Given the description of an element on the screen output the (x, y) to click on. 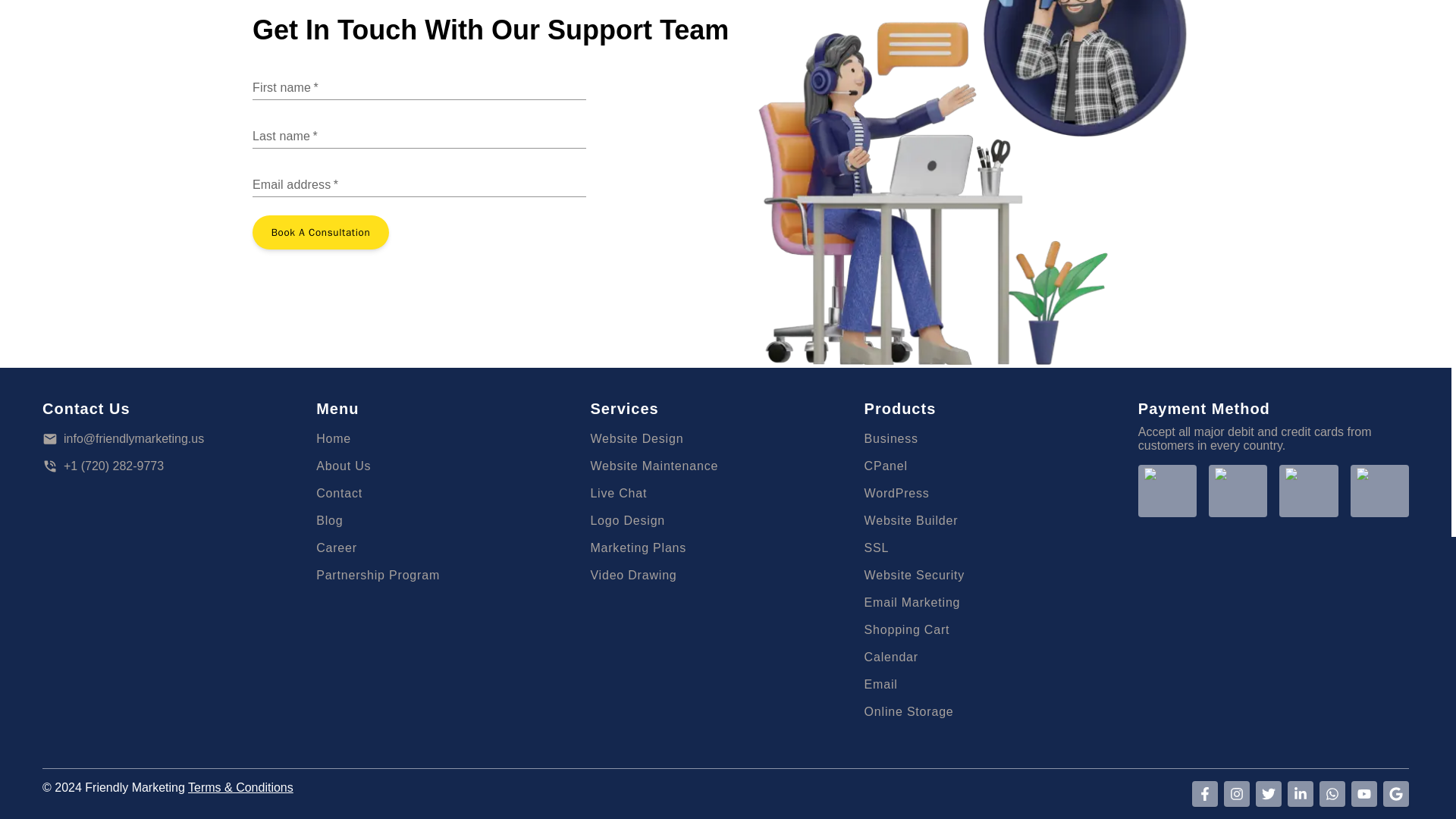
Business (999, 438)
Contact (450, 492)
CPanel (999, 465)
About Us (450, 465)
Home (450, 438)
Partnership Program (377, 574)
Logo Design (724, 520)
Book A Consultation (319, 232)
Website Design (724, 438)
Career (335, 547)
